Given the description of an element on the screen output the (x, y) to click on. 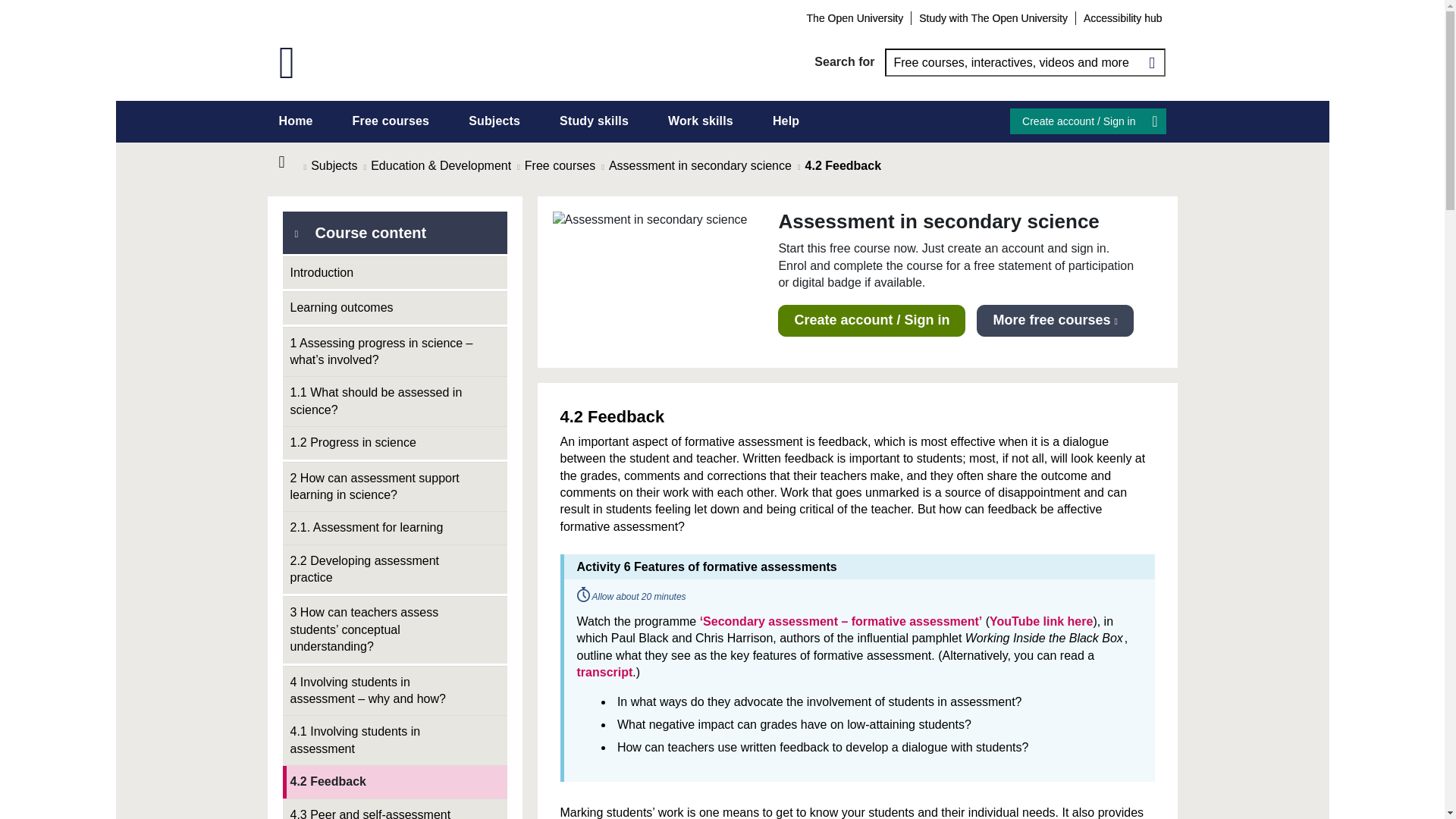
Home (291, 162)
Search (1151, 62)
Accessibility hub (1123, 17)
Home (296, 120)
Study with The Open University (993, 17)
The Open University (855, 17)
Help (786, 120)
Free courses (390, 120)
Work skills (700, 120)
Subjects (493, 120)
